Given the description of an element on the screen output the (x, y) to click on. 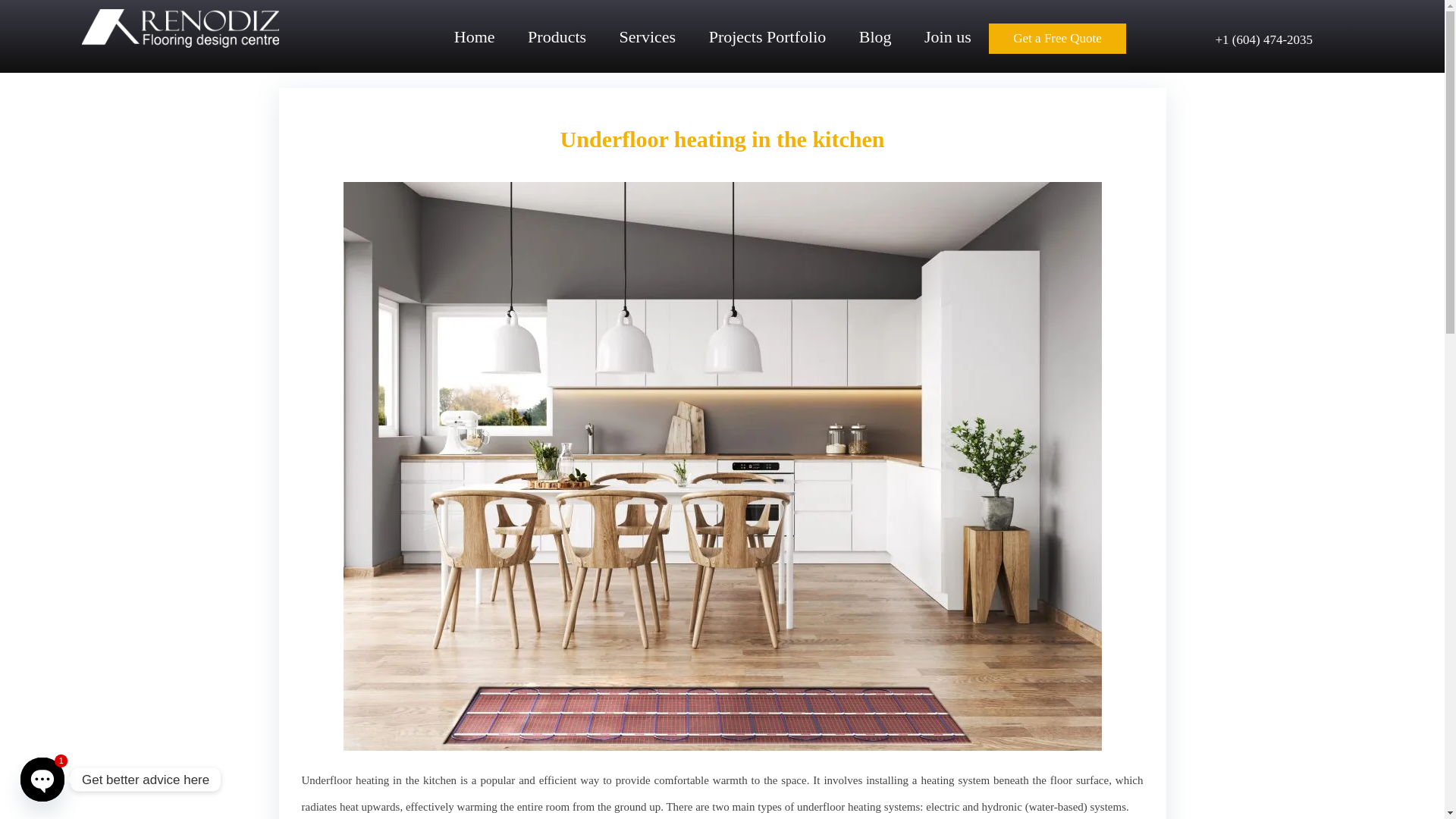
Projects Portfolio (767, 44)
Products (556, 44)
Blog (875, 44)
Join us (947, 44)
Home (475, 44)
Get a Free Quote (1056, 38)
Services (647, 44)
